Given the description of an element on the screen output the (x, y) to click on. 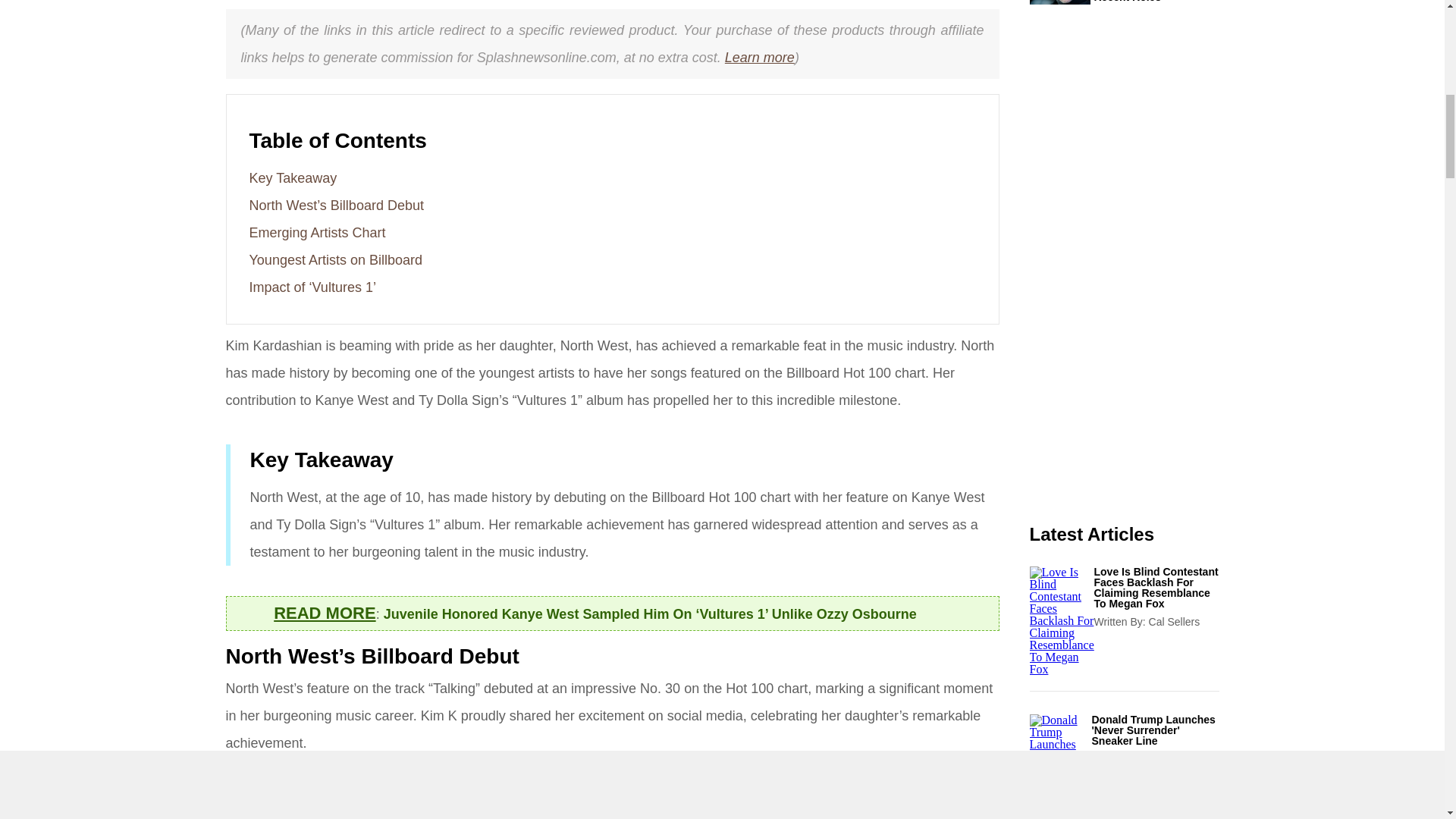
Learn more (759, 57)
Donald Trump Launches 'Never Surrender' Sneaker Line (1156, 730)
Key Takeaway (292, 177)
Youngest Artists on Billboard (335, 259)
Anson Mount: From Hollywood Success To Recent Roles (1155, 1)
Emerging Artists Chart (316, 232)
